Given the description of an element on the screen output the (x, y) to click on. 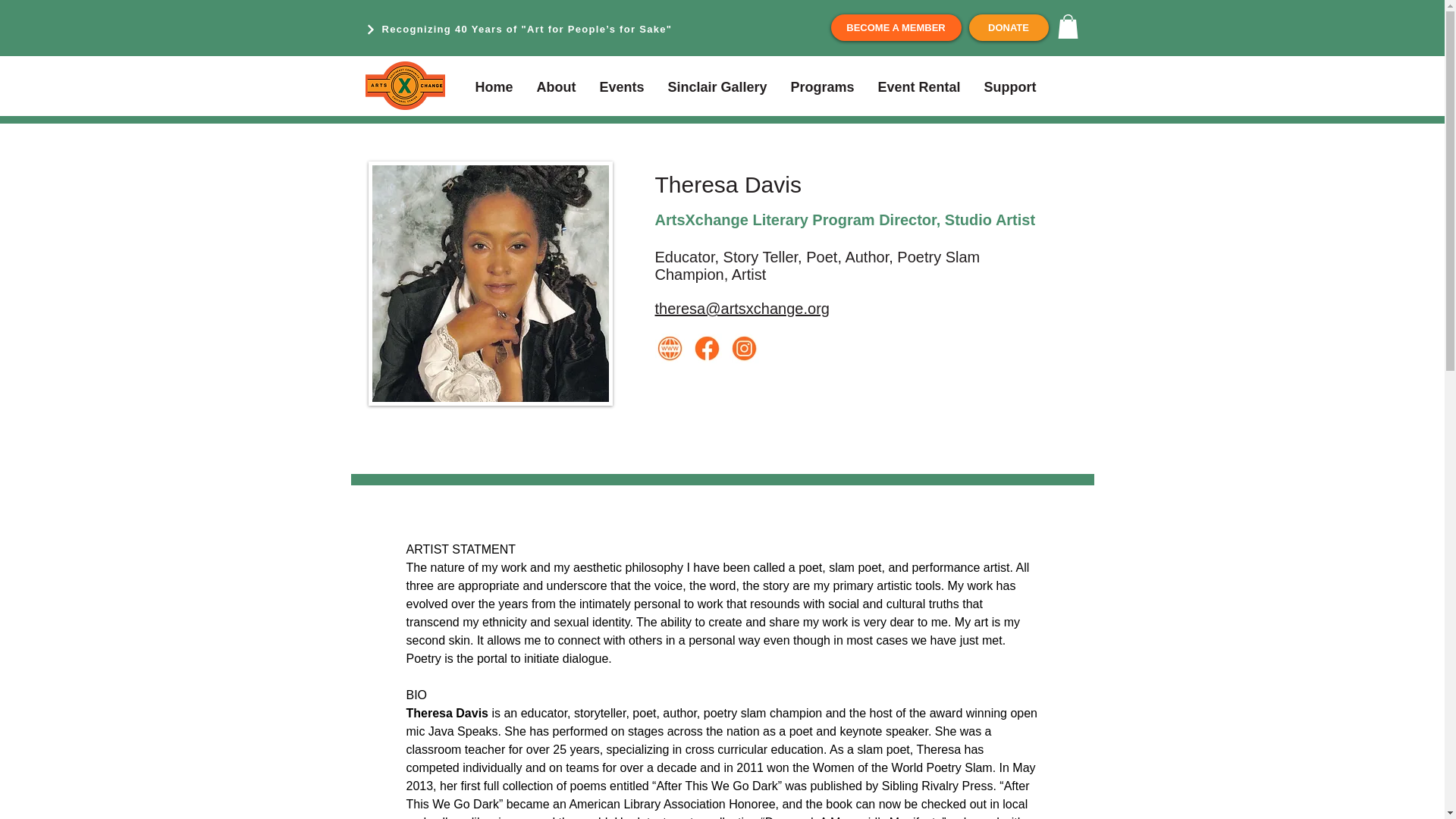
Home (494, 86)
Programs (822, 86)
Theresa Davis (490, 283)
Sinclair Gallery (717, 86)
Support (1009, 86)
About (555, 86)
Event Rental (918, 86)
BECOME A MEMBER (895, 27)
DONATE (1008, 27)
Events (622, 86)
